Given the description of an element on the screen output the (x, y) to click on. 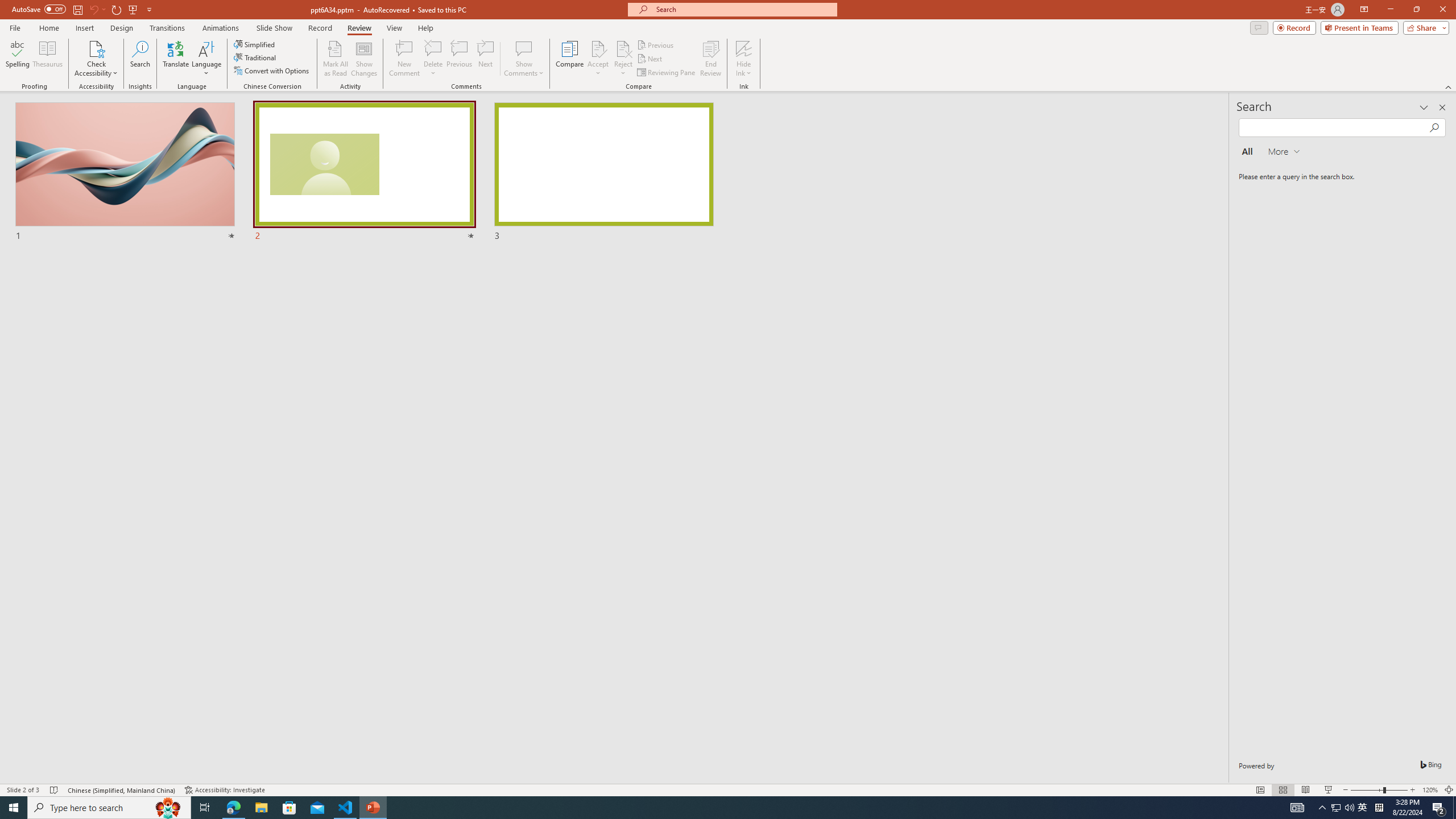
Thesaurus... (47, 58)
Traditional (255, 56)
